Given the description of an element on the screen output the (x, y) to click on. 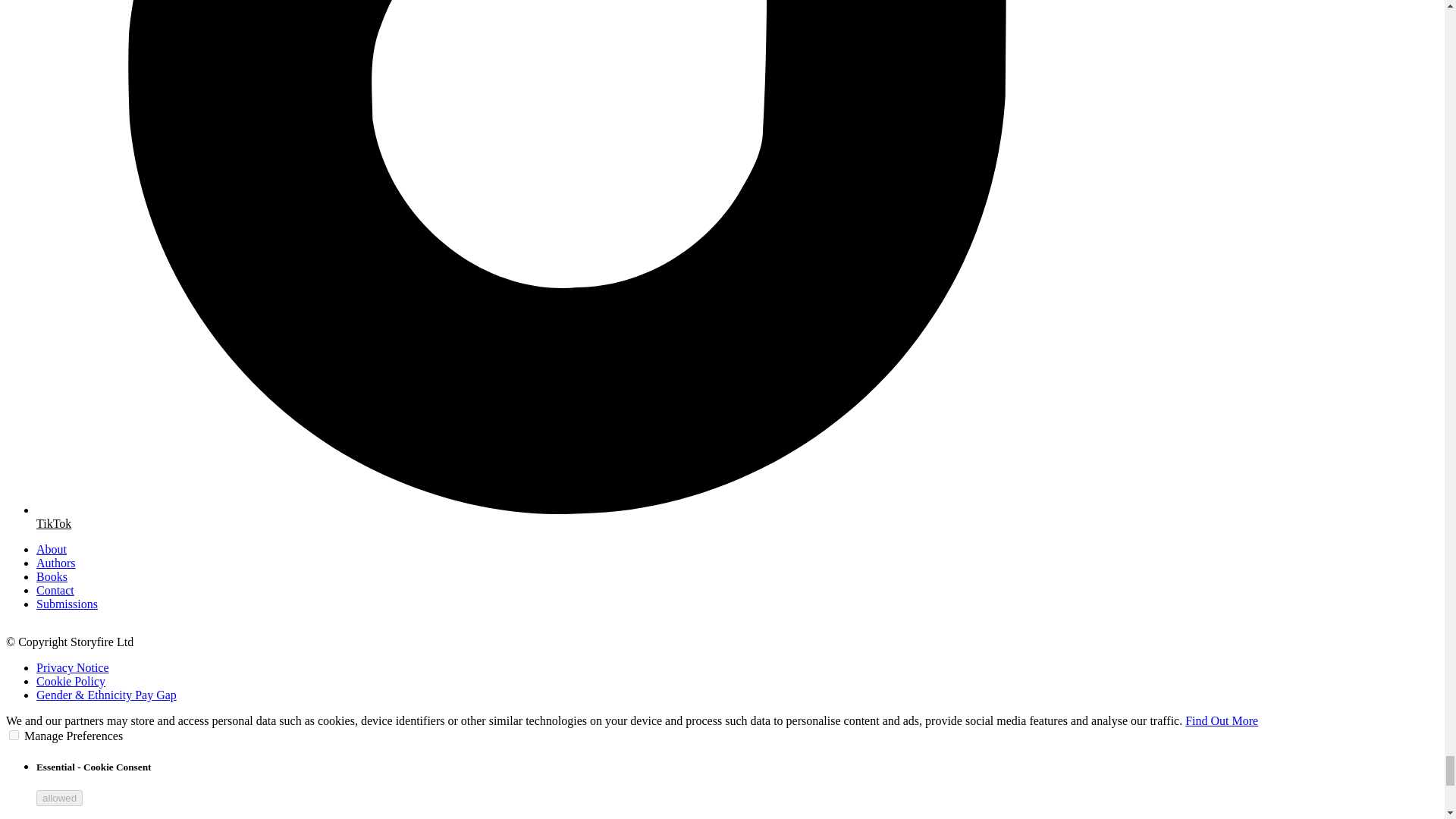
on (13, 735)
